Given the description of an element on the screen output the (x, y) to click on. 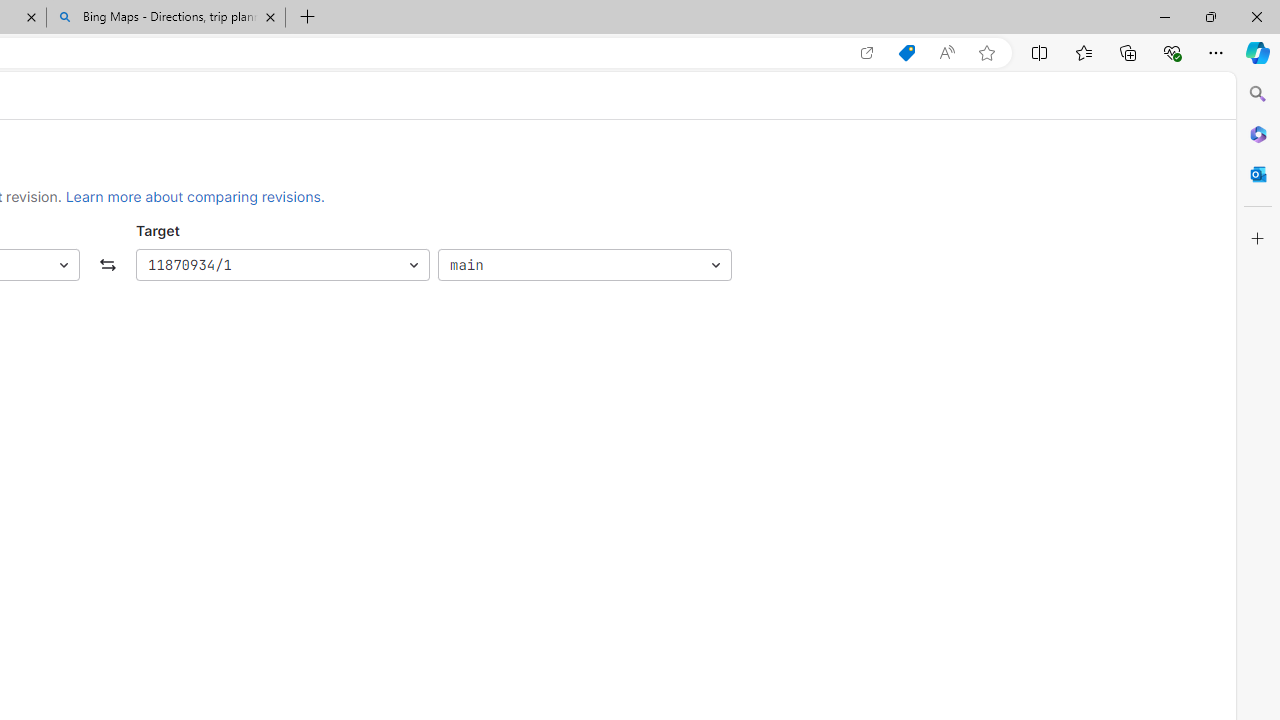
Swap (108, 265)
Learn more about comparing revisions. (195, 196)
Open in app (867, 53)
